Given the description of an element on the screen output the (x, y) to click on. 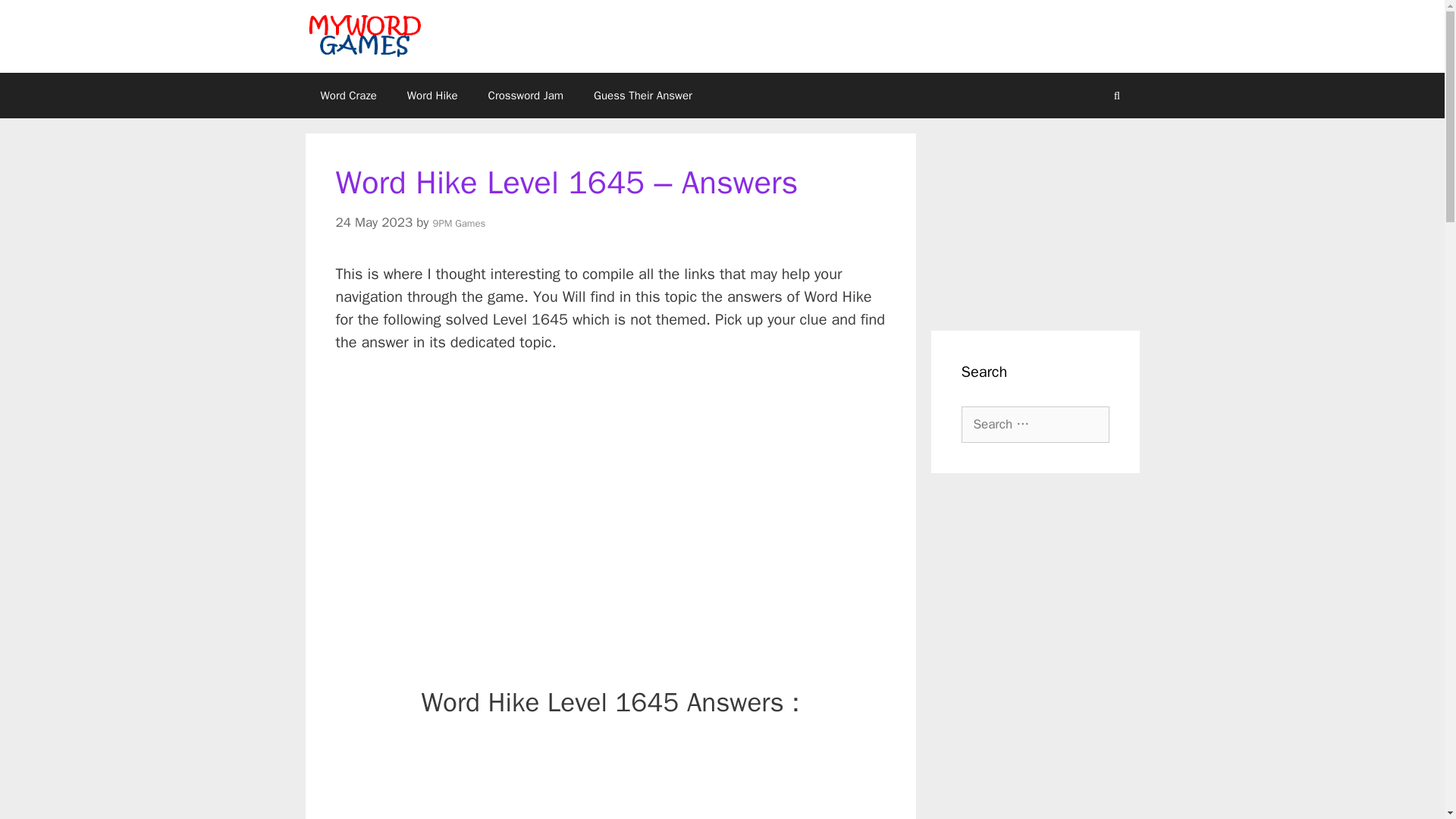
Crossword Jam (525, 94)
Guess Their Answer (642, 94)
View all posts by 9PM Games (459, 223)
Search (35, 18)
Word Craze (347, 94)
9PM Games (459, 223)
Search for: (1034, 424)
Word Hike (432, 94)
